Given the description of an element on the screen output the (x, y) to click on. 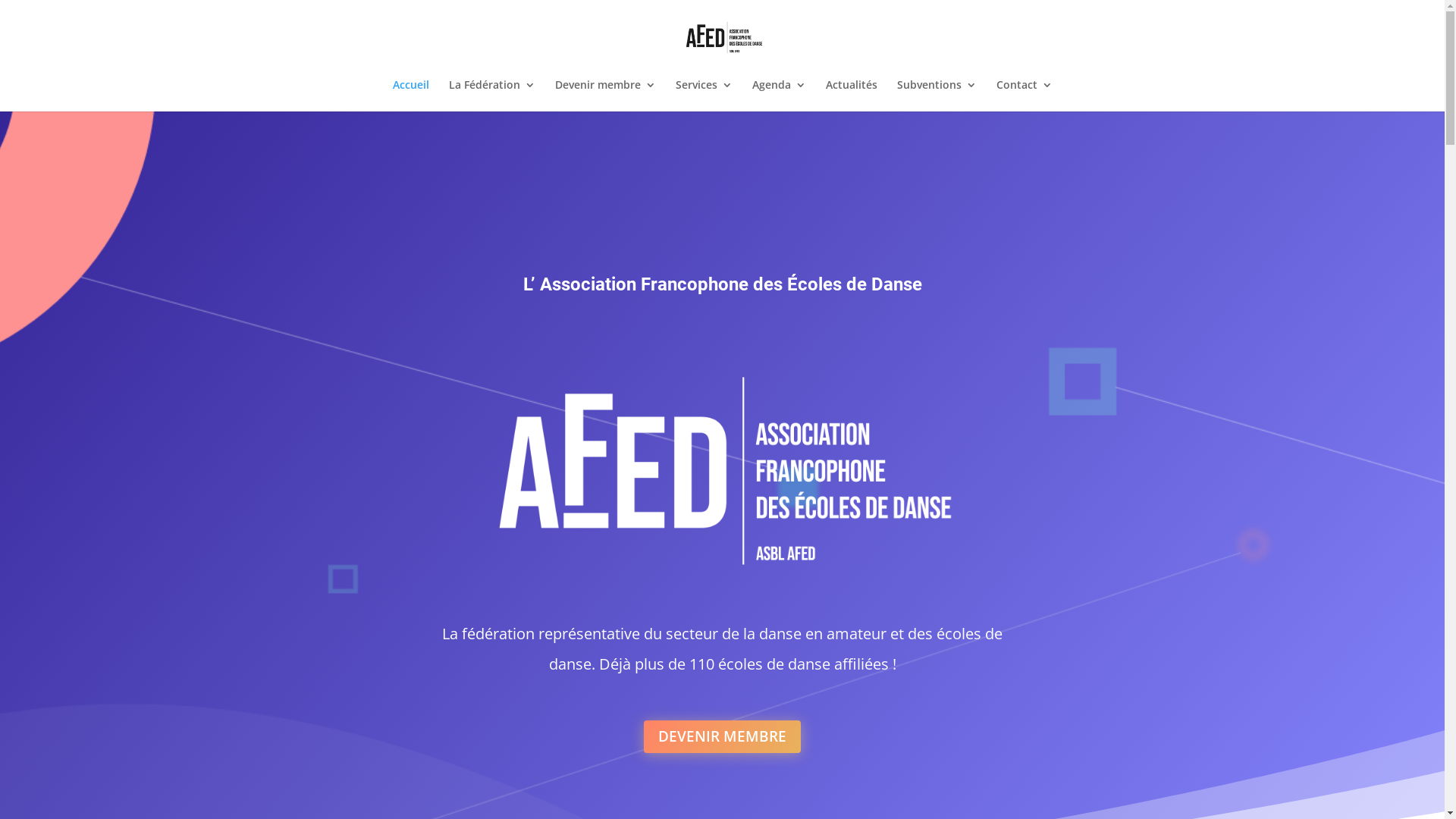
Contact Element type: text (1024, 95)
Agenda Element type: text (779, 95)
DEVENIR MEMBRE Element type: text (721, 736)
Accueil Element type: text (410, 95)
Services Element type: text (702, 95)
Logo AFED BLANC Element type: hover (721, 473)
Subventions Element type: text (935, 95)
Devenir membre Element type: text (605, 95)
